Given the description of an element on the screen output the (x, y) to click on. 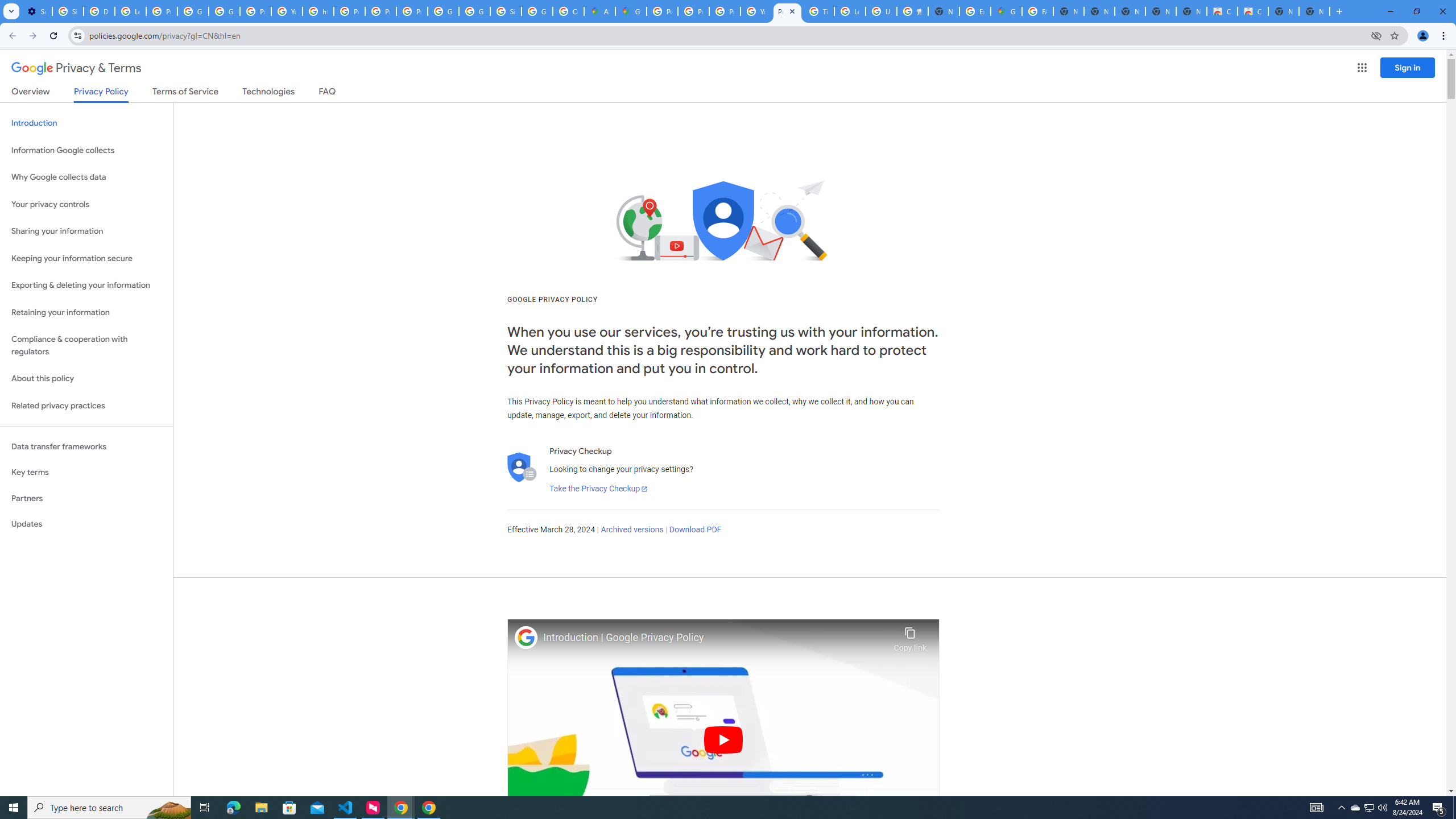
New Tab (943, 11)
Take the Privacy Checkup (597, 488)
YouTube (756, 11)
Privacy Help Center - Policies Help (693, 11)
Copy link (909, 636)
Sign in - Google Accounts (505, 11)
Explore new street-level details - Google Maps Help (974, 11)
